Given the description of an element on the screen output the (x, y) to click on. 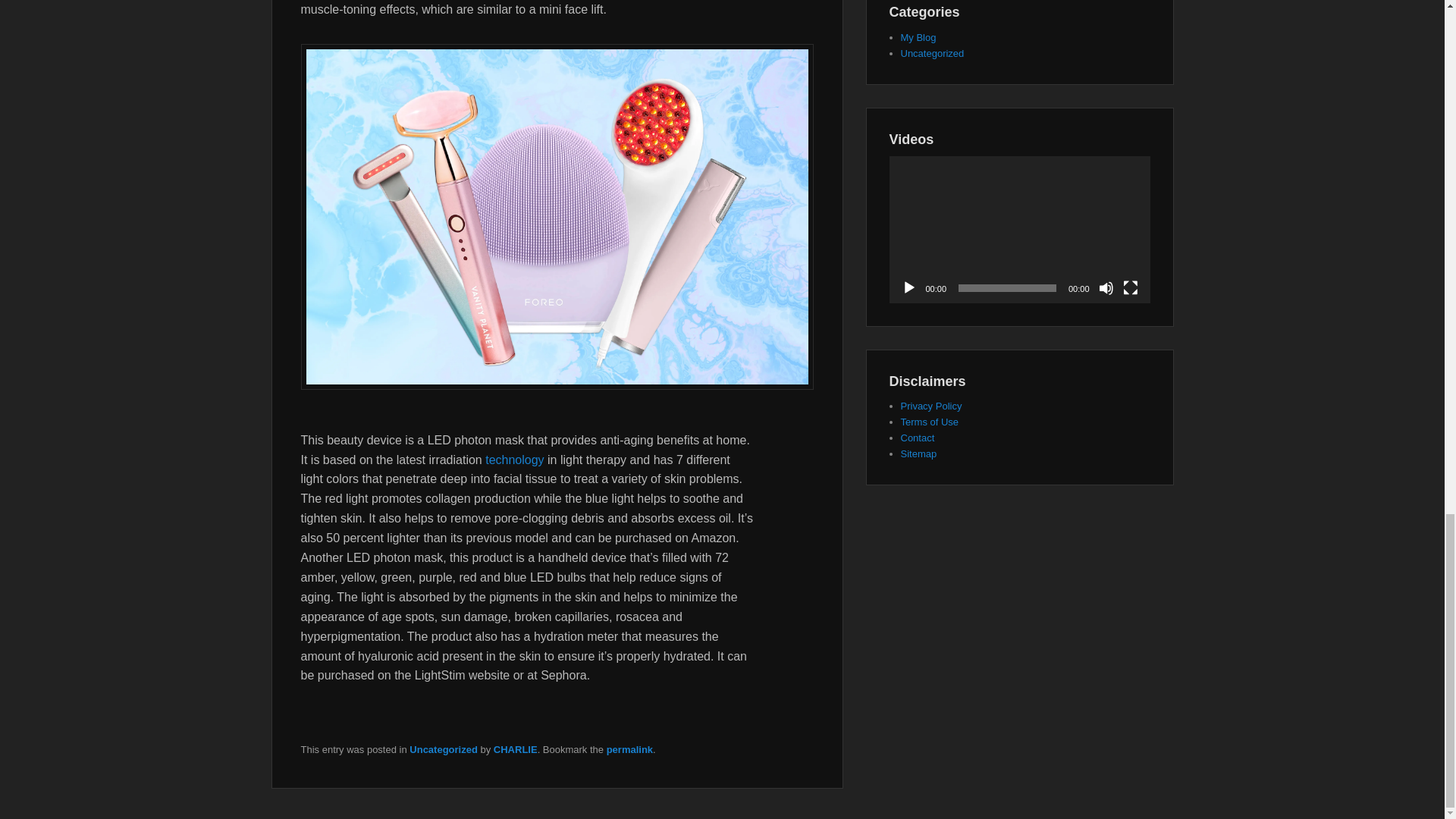
My Blog (918, 37)
Privacy Policy (931, 405)
Uncategorized (932, 52)
permalink (629, 749)
Contact (917, 437)
technology (515, 459)
Sitemap (919, 453)
Uncategorized (443, 749)
CHARLIE (515, 749)
Fullscreen (1129, 287)
